Given the description of an element on the screen output the (x, y) to click on. 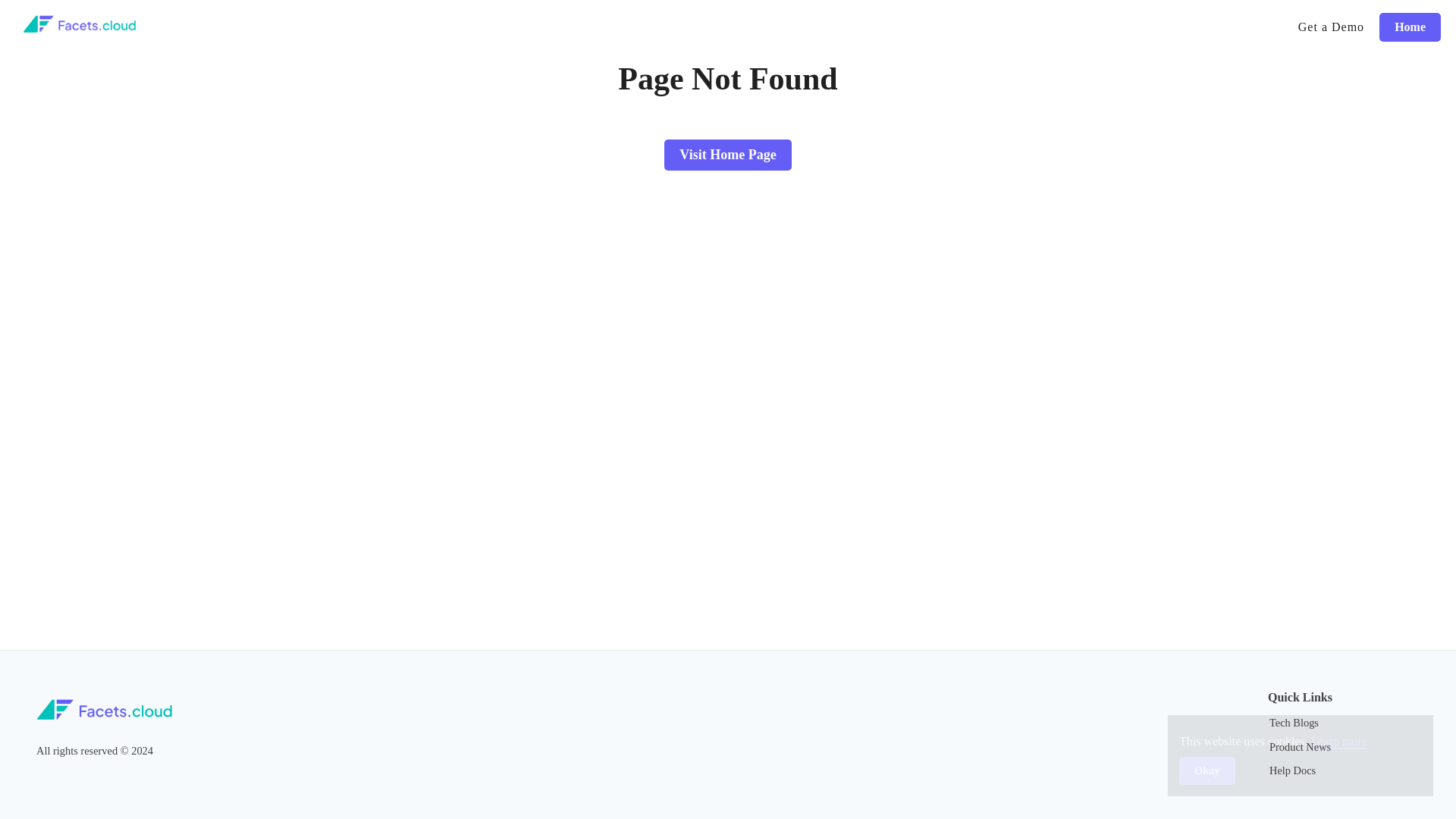
Visit Home Page (726, 135)
Tech Blogs (1294, 722)
Product News (1299, 746)
Learn more (1339, 741)
Get a Demo (1330, 26)
Home (1409, 26)
Okay (1206, 770)
Help Docs (1292, 770)
Visit Home Page (726, 154)
Home (1409, 26)
